Given the description of an element on the screen output the (x, y) to click on. 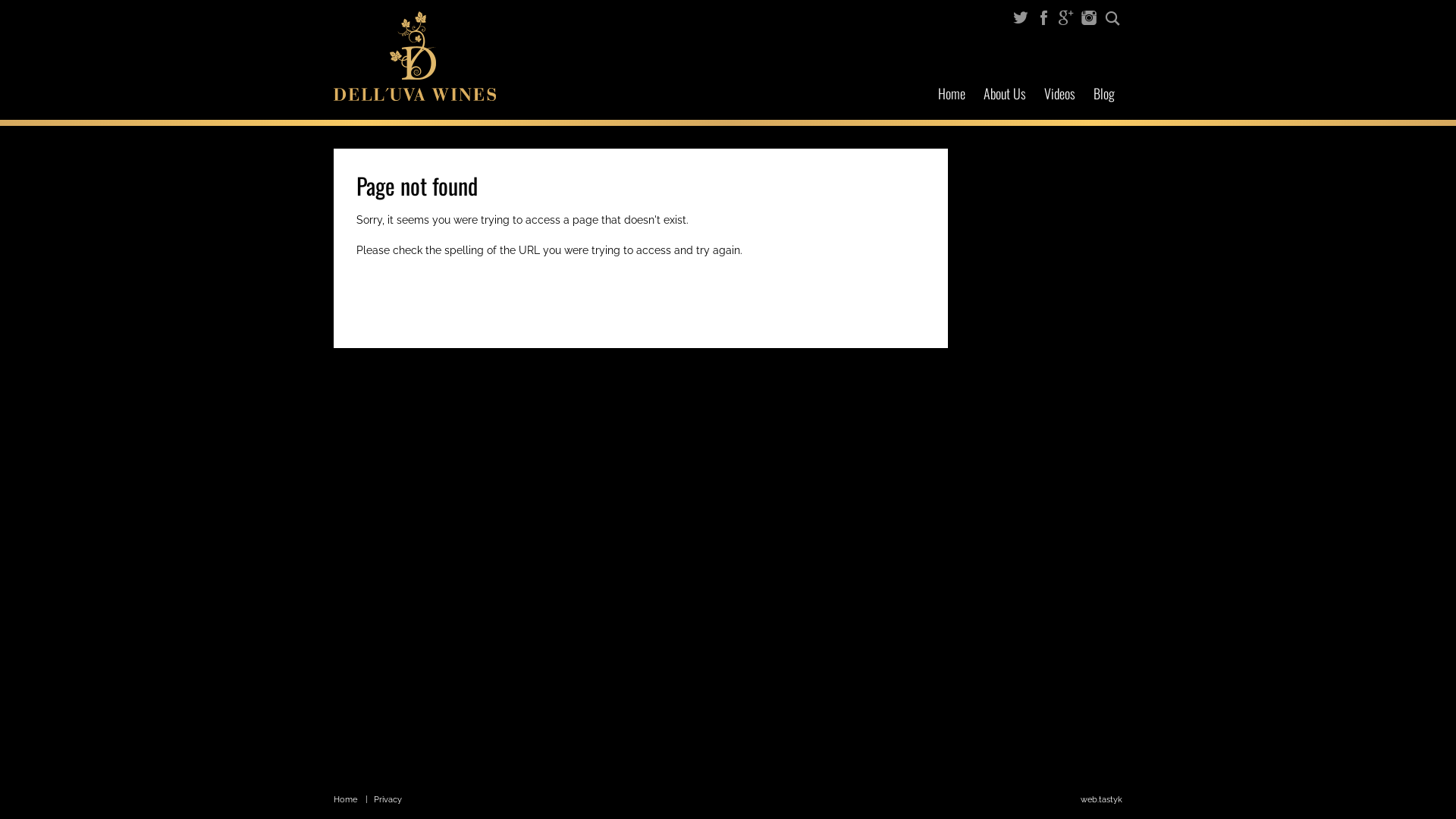
Blog Element type: text (1103, 93)
Home Element type: text (951, 93)
Videos Element type: text (1059, 93)
About Us Element type: text (1004, 93)
Home Element type: text (345, 799)
web.tastyk Element type: text (1101, 799)
Search Element type: hover (1112, 18)
Privacy Element type: text (387, 799)
